Given the description of an element on the screen output the (x, y) to click on. 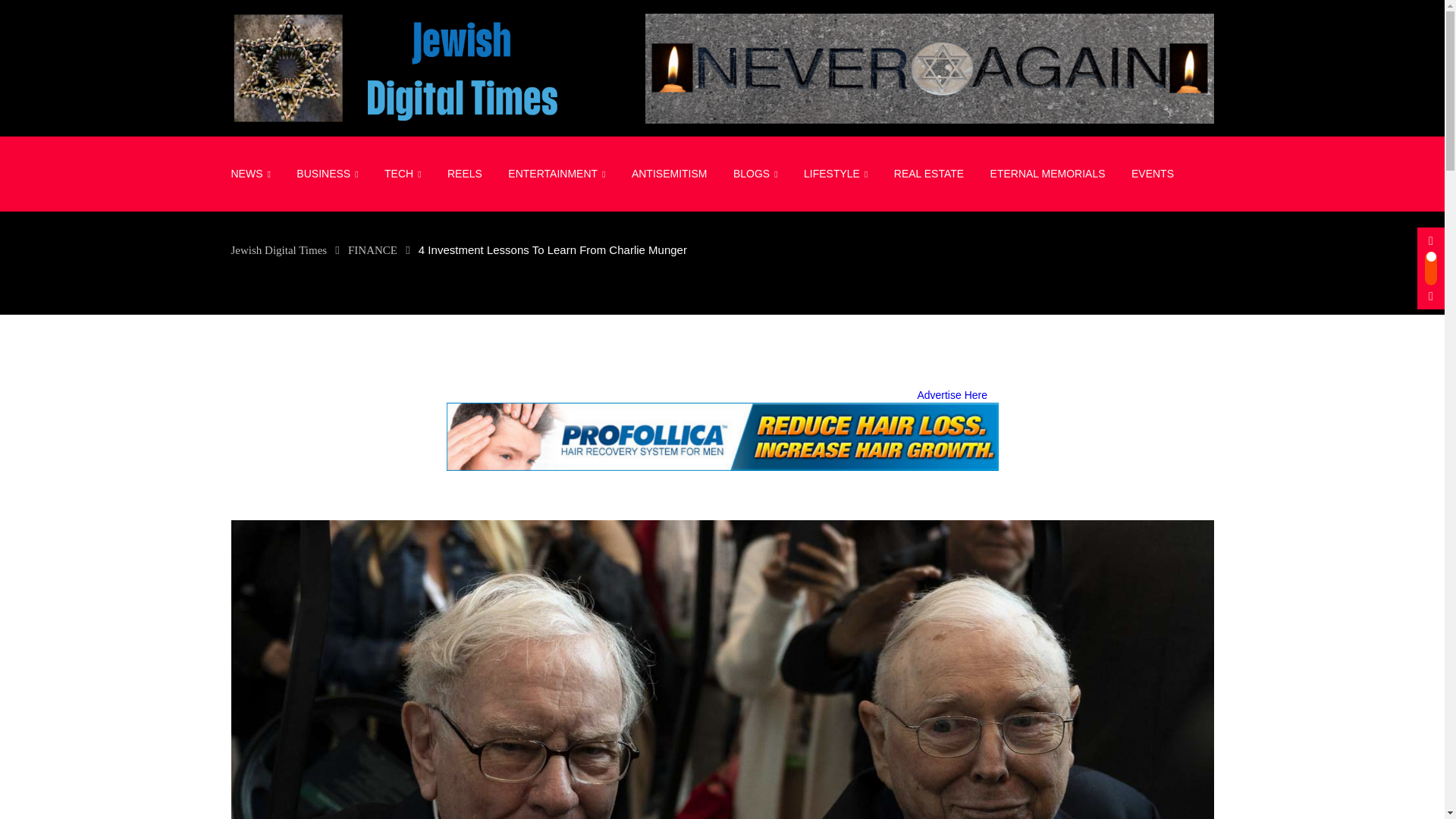
LIFESTYLE (835, 173)
BLOGS (755, 173)
ANTISEMITISM (669, 173)
BUSINESS (327, 173)
Go to the FINANCE Category archives. (372, 250)
ENTERTAINMENT (555, 173)
Go to Jewish Digital Times. (278, 250)
